Given the description of an element on the screen output the (x, y) to click on. 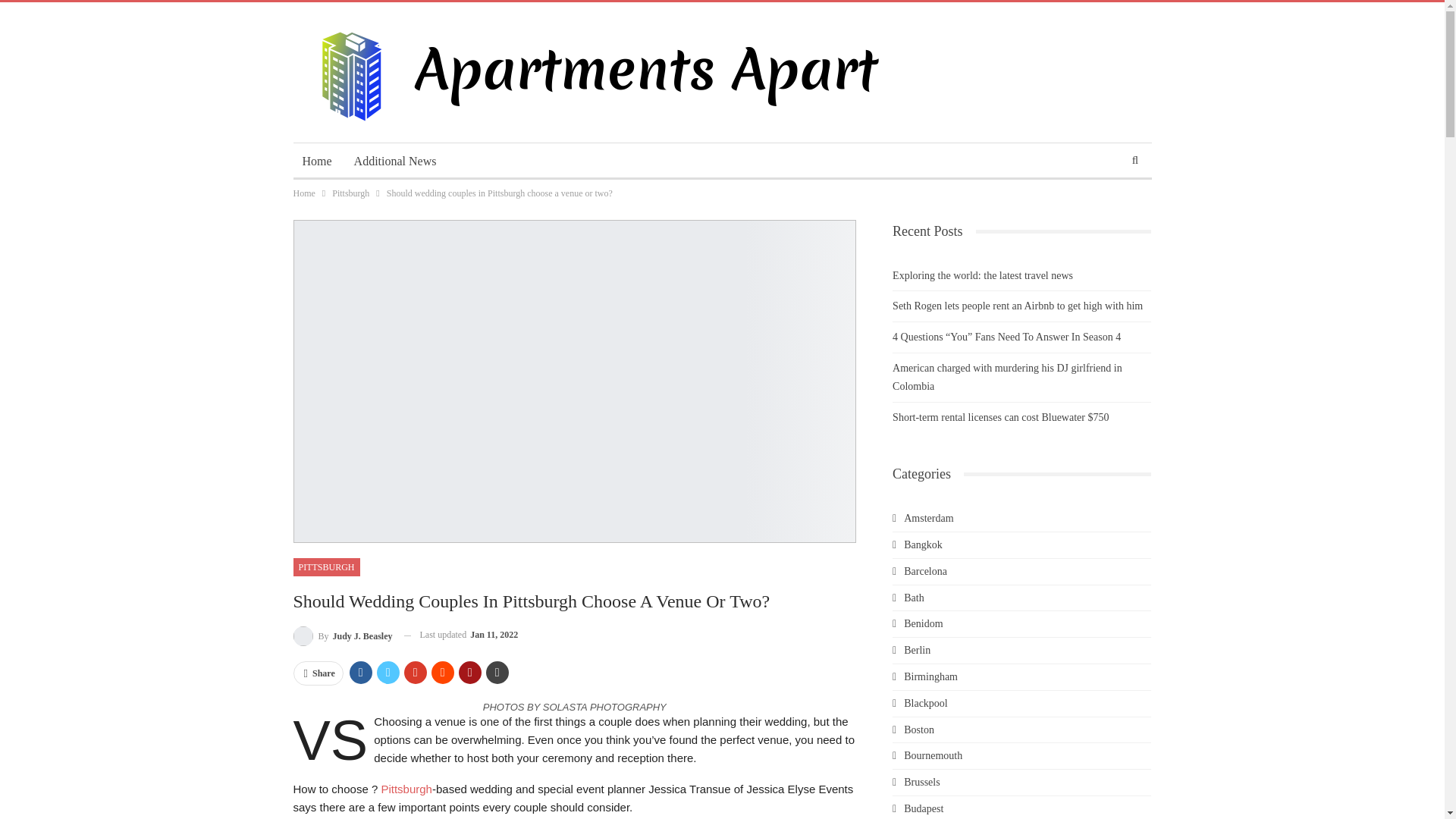
Home (316, 161)
Pittsburgh (350, 193)
Pittsburgh (406, 788)
Browse Author Articles (341, 634)
PITTSBURGH (325, 566)
Pittsburgh (406, 788)
Home (303, 193)
By Judy J. Beasley (341, 634)
Additional News (395, 161)
